Given the description of an element on the screen output the (x, y) to click on. 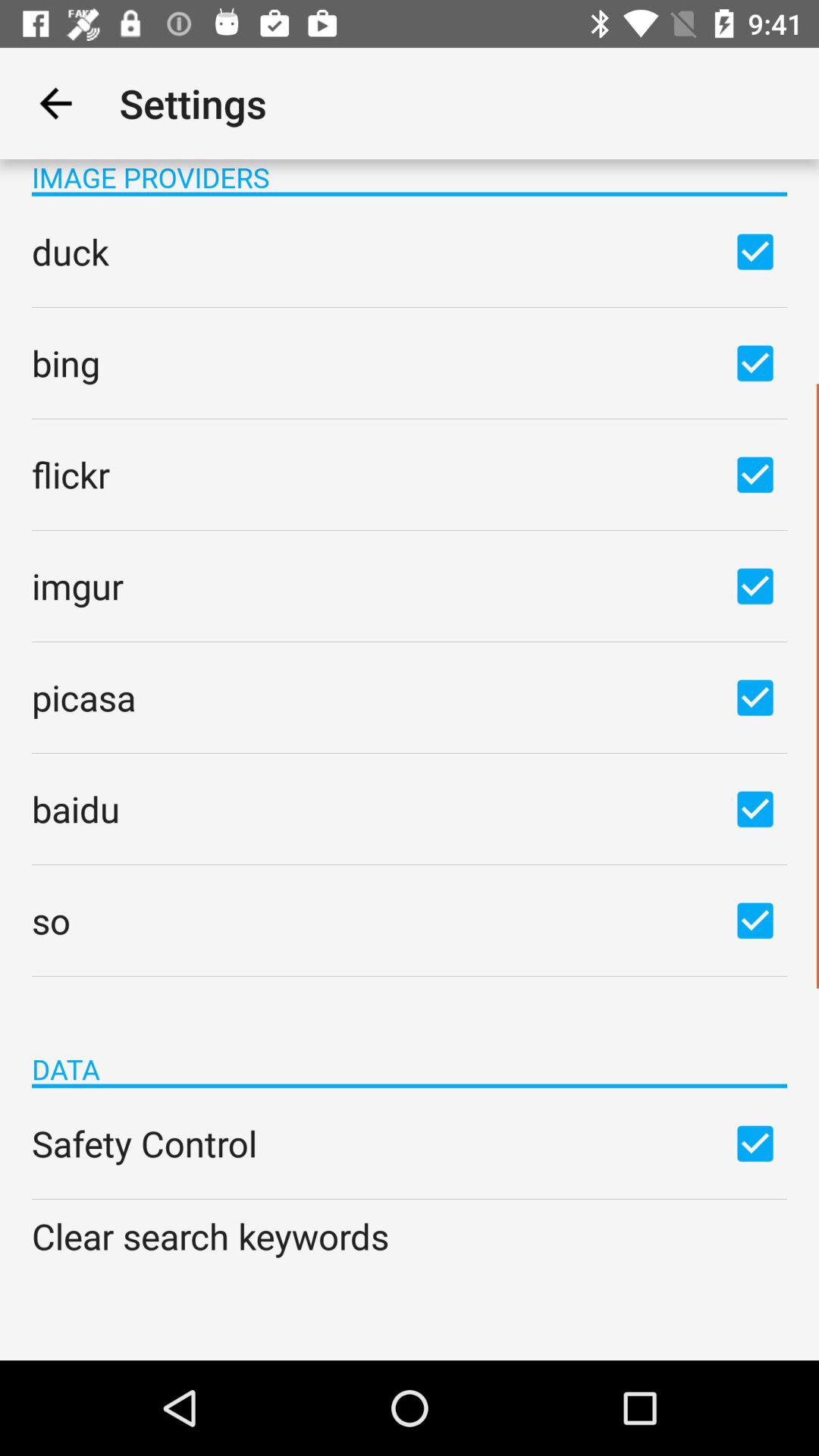
uncheck imgur (755, 585)
